Given the description of an element on the screen output the (x, y) to click on. 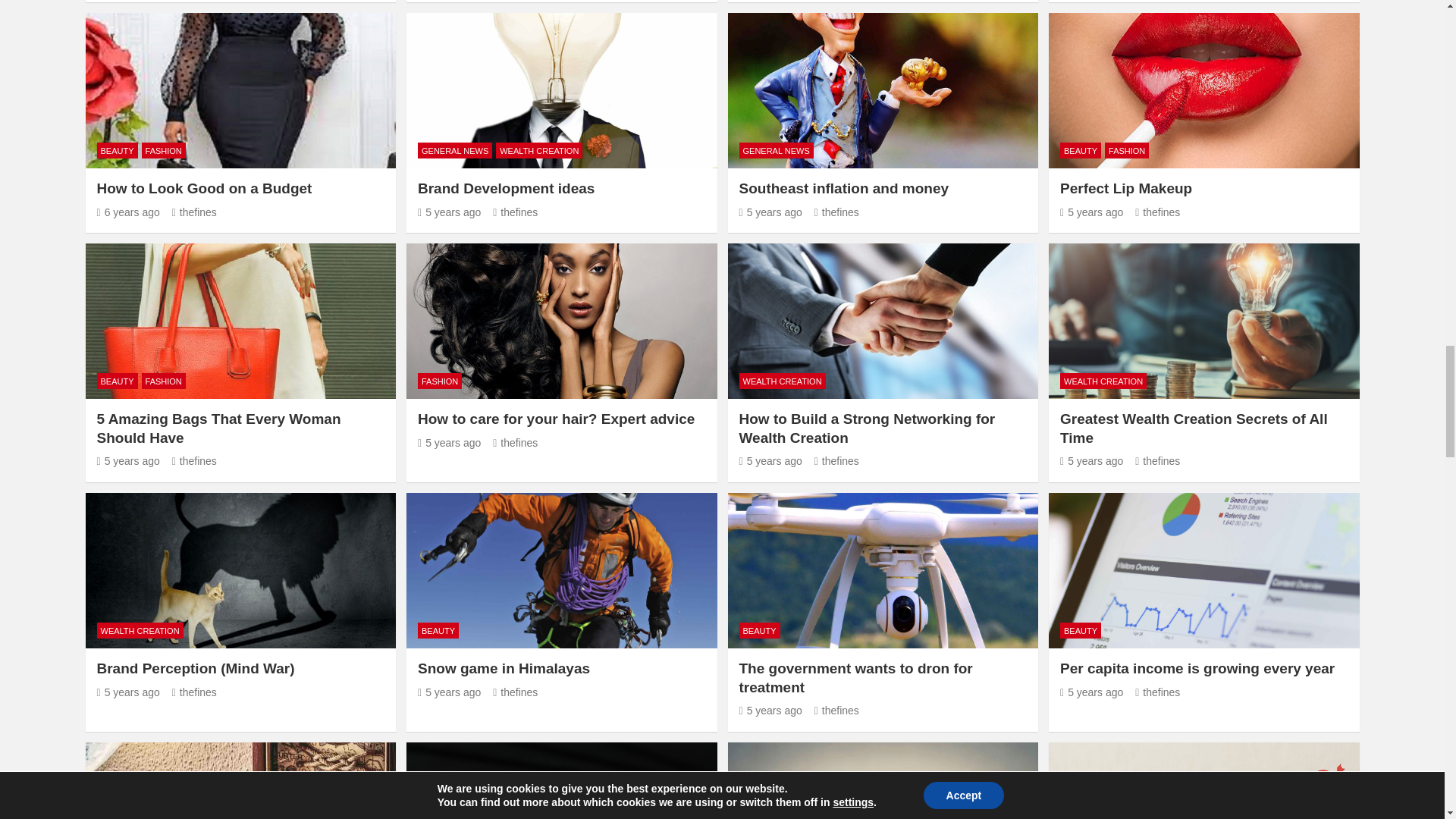
5 years ago (1090, 212)
5 years ago (128, 460)
5 years ago (770, 212)
5 years ago (448, 212)
6 years ago (128, 212)
